Given the description of an element on the screen output the (x, y) to click on. 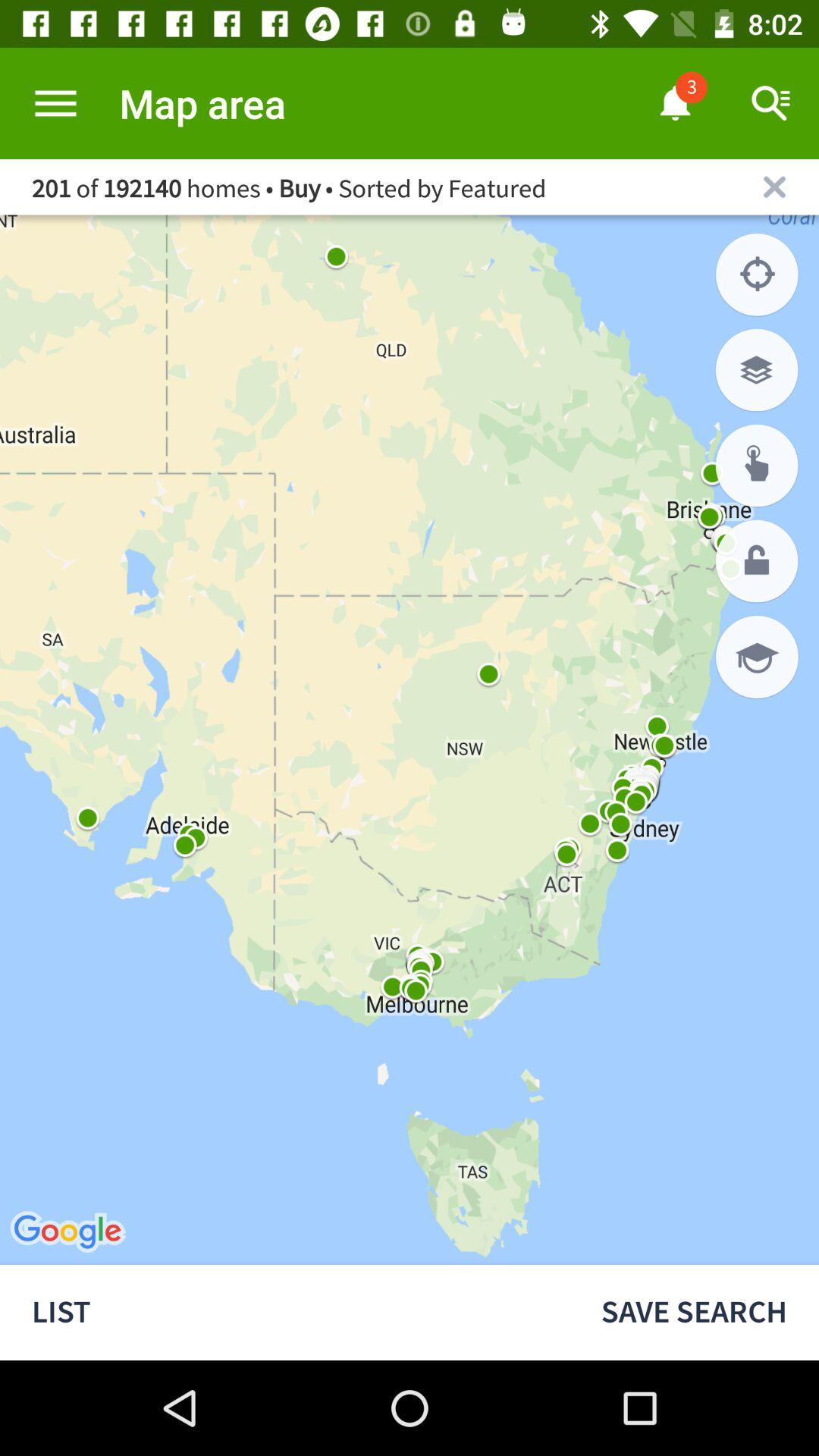
extend options tab (55, 103)
